Given the description of an element on the screen output the (x, y) to click on. 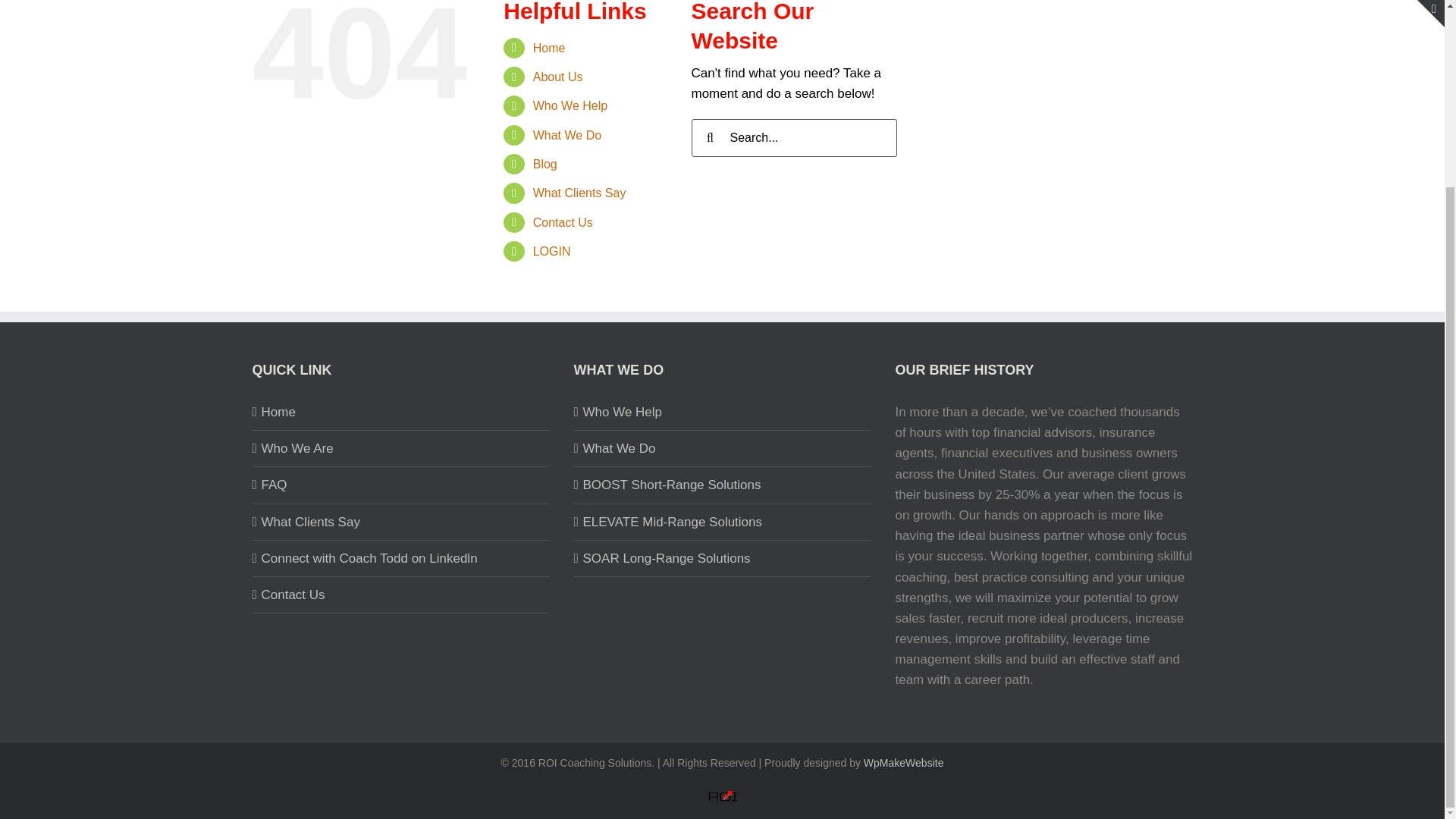
Connect with Coach Todd on Linkedln (400, 557)
Contact Us (400, 594)
FAQ (400, 485)
What We Do (722, 448)
LOGIN (551, 250)
Blog (544, 164)
Home (400, 412)
What We Do (566, 134)
What Clients Say (400, 521)
Contact Us (562, 222)
LOGIN (721, 793)
About Us (557, 76)
What Clients Say (579, 192)
Who We Help (722, 412)
Who We Are (400, 448)
